Given the description of an element on the screen output the (x, y) to click on. 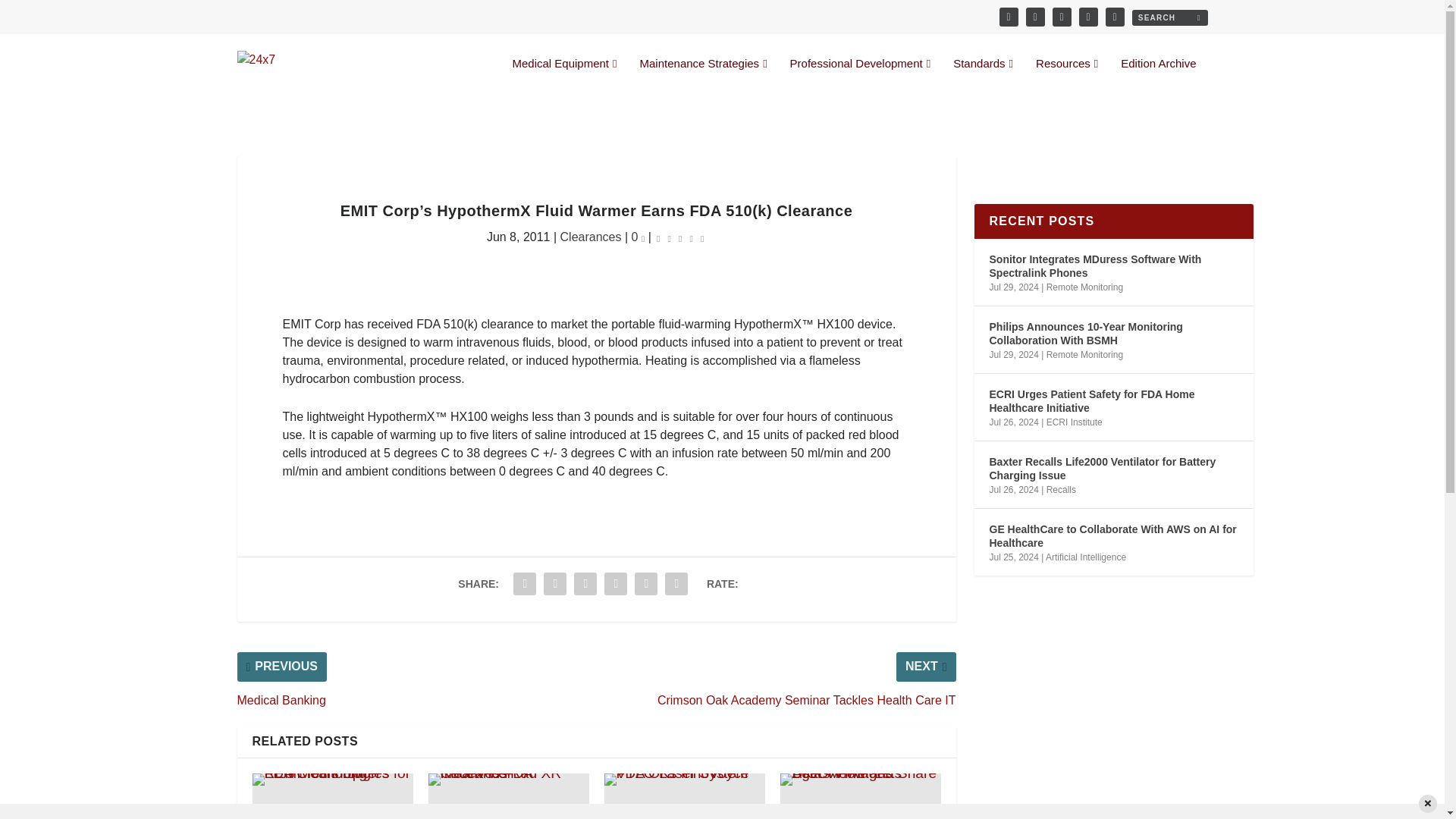
Standards (983, 76)
FDA OKs InnoVoyce VYLO Laser System (684, 796)
Edition Archive (1158, 76)
Medical Equipment (563, 76)
Professional Development (860, 76)
Agfa Viewer Lets Users View and Share DICOM Images (859, 796)
Rating: 0.00 (679, 237)
Search for: (1169, 17)
Imidex VisiRad XR Receives FDA Clearance (508, 796)
0 (638, 236)
Maintenance Strategies (703, 76)
Resources (1066, 76)
Clearances (590, 236)
